Given the description of an element on the screen output the (x, y) to click on. 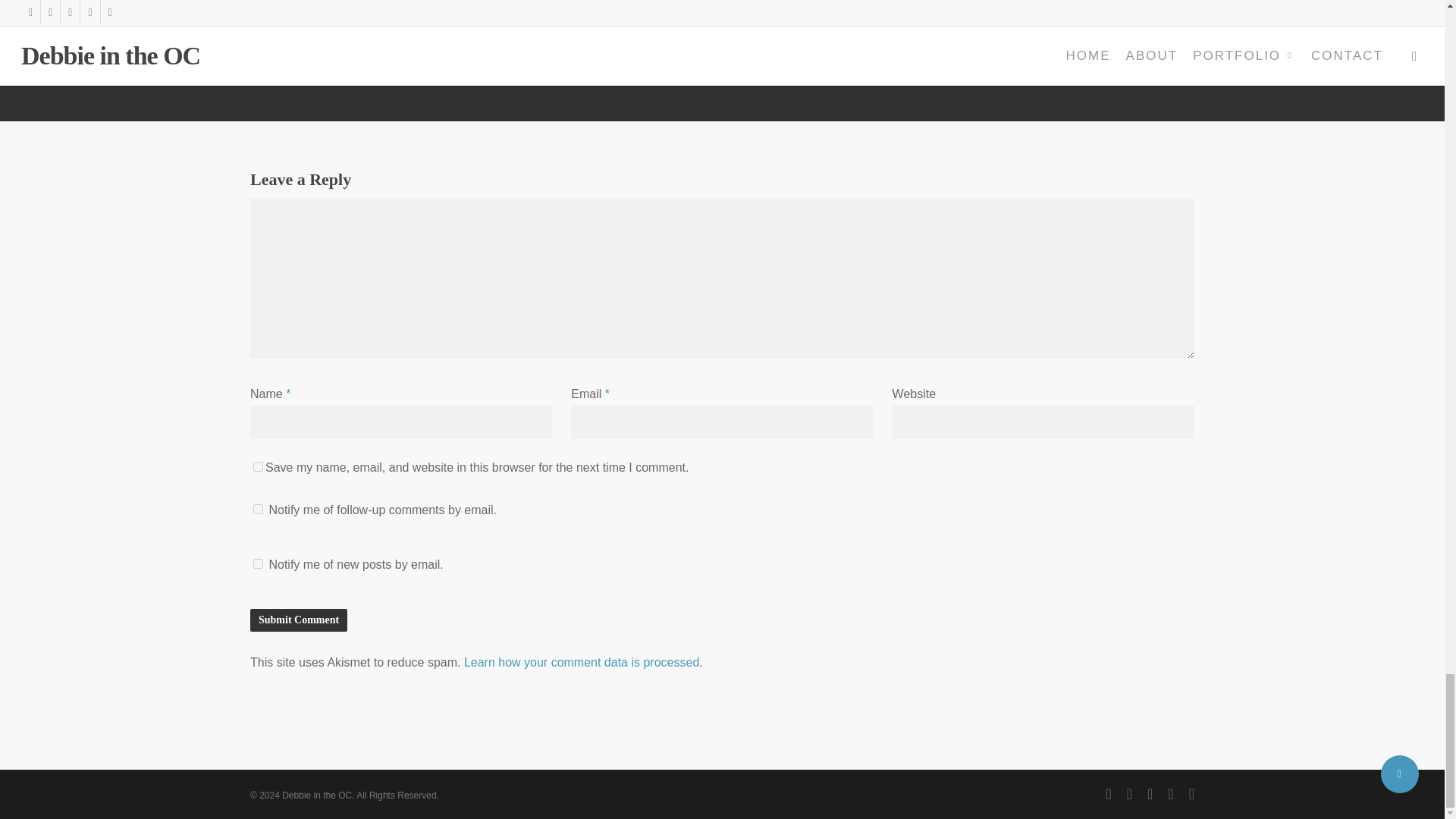
yes (258, 466)
Submit Comment (298, 620)
subscribe (258, 509)
subscribe (258, 563)
